Given the description of an element on the screen output the (x, y) to click on. 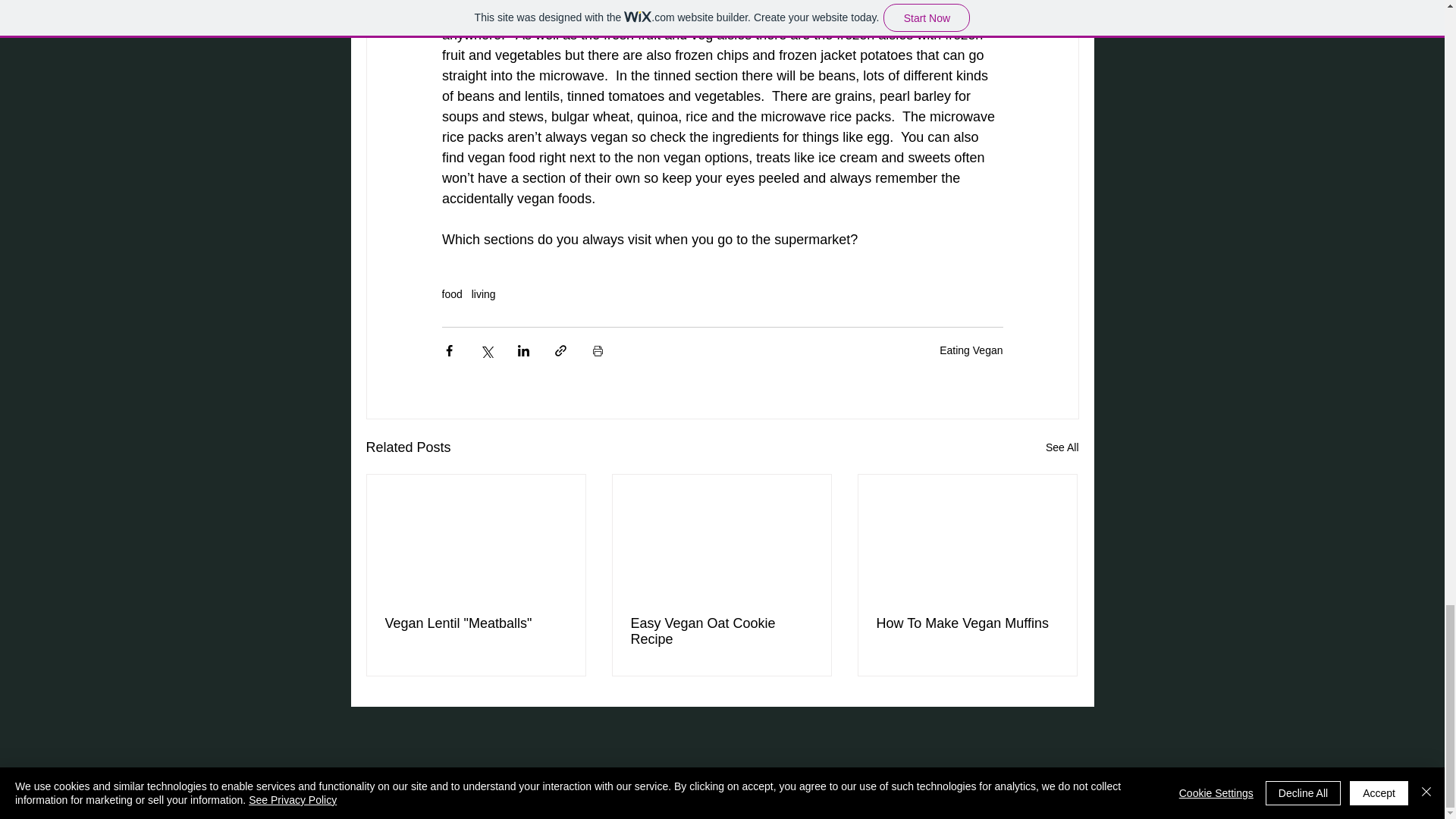
Eating Vegan (971, 349)
How To Make Vegan Muffins (967, 623)
food (451, 294)
Vegan Lentil "Meatballs" (476, 623)
See All (1061, 447)
Easy Vegan Oat Cookie Recipe (721, 631)
living (483, 294)
